Given the description of an element on the screen output the (x, y) to click on. 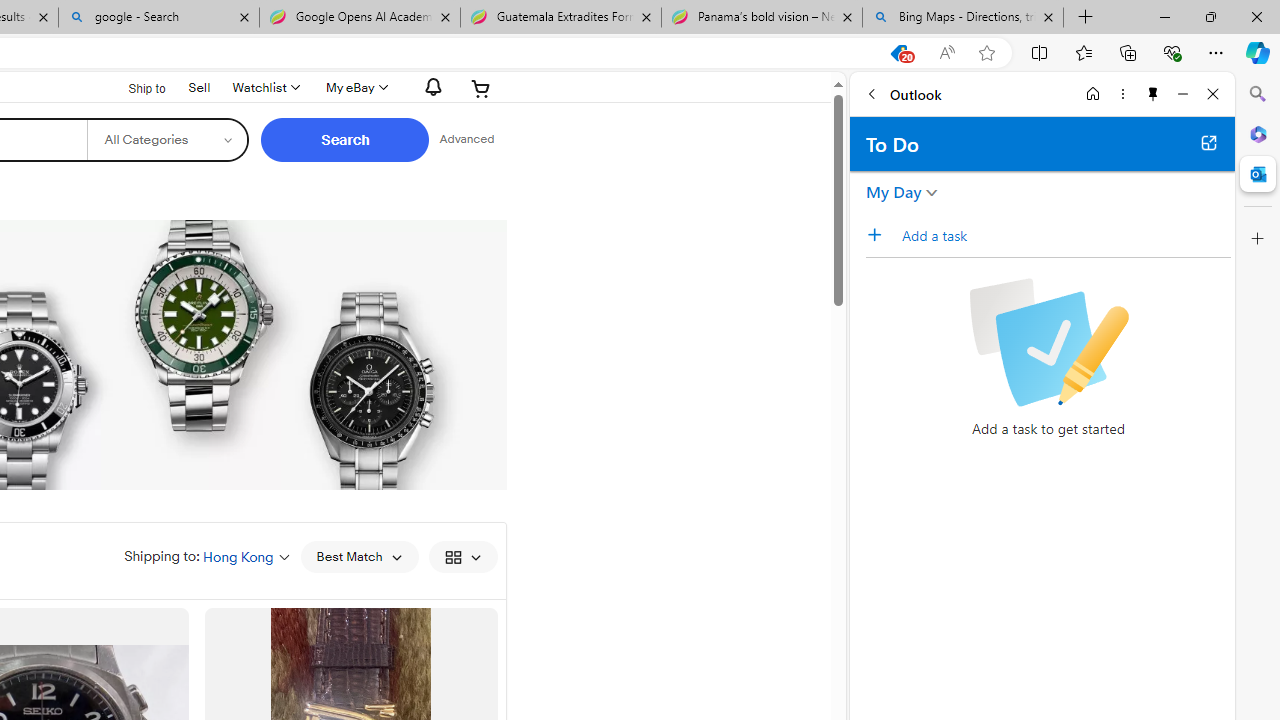
Add a task (881, 235)
Add a task (1065, 235)
Expand Cart (481, 88)
This site has coupons! Shopping in Microsoft Edge, 20 (898, 53)
Ship to (134, 86)
Ship to (134, 89)
